Given the description of an element on the screen output the (x, y) to click on. 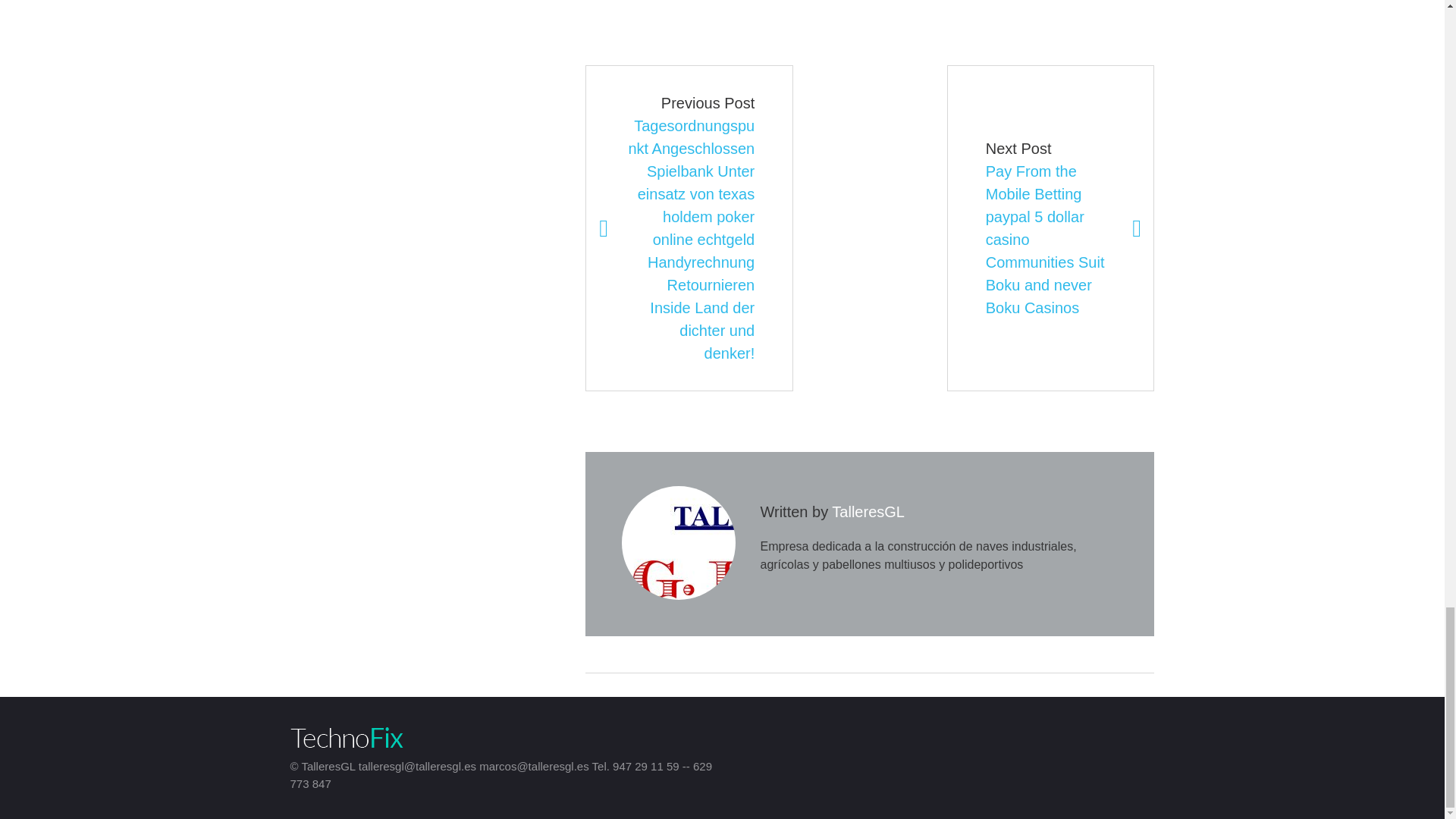
TalleresGL (867, 511)
Entradas de TalleresGL (867, 511)
